Given the description of an element on the screen output the (x, y) to click on. 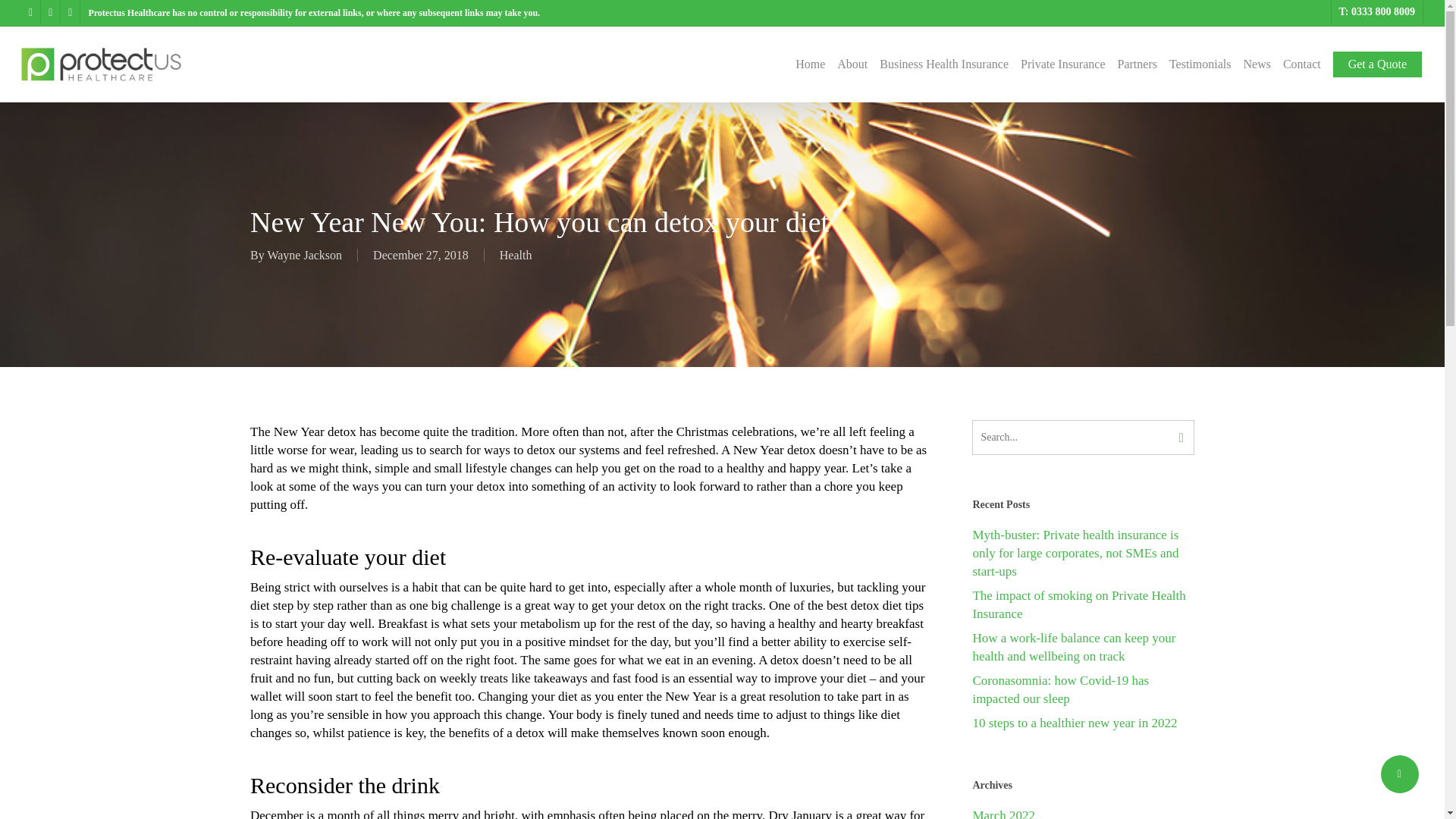
Private Insurance (1062, 64)
News (1256, 64)
Home (809, 64)
Get a Quote (1377, 64)
Search for: (1082, 437)
About (852, 64)
Testimonials (1200, 64)
Health (515, 254)
Business Health Insurance (944, 64)
T: 0333 800 8009 (1376, 12)
